Given the description of an element on the screen output the (x, y) to click on. 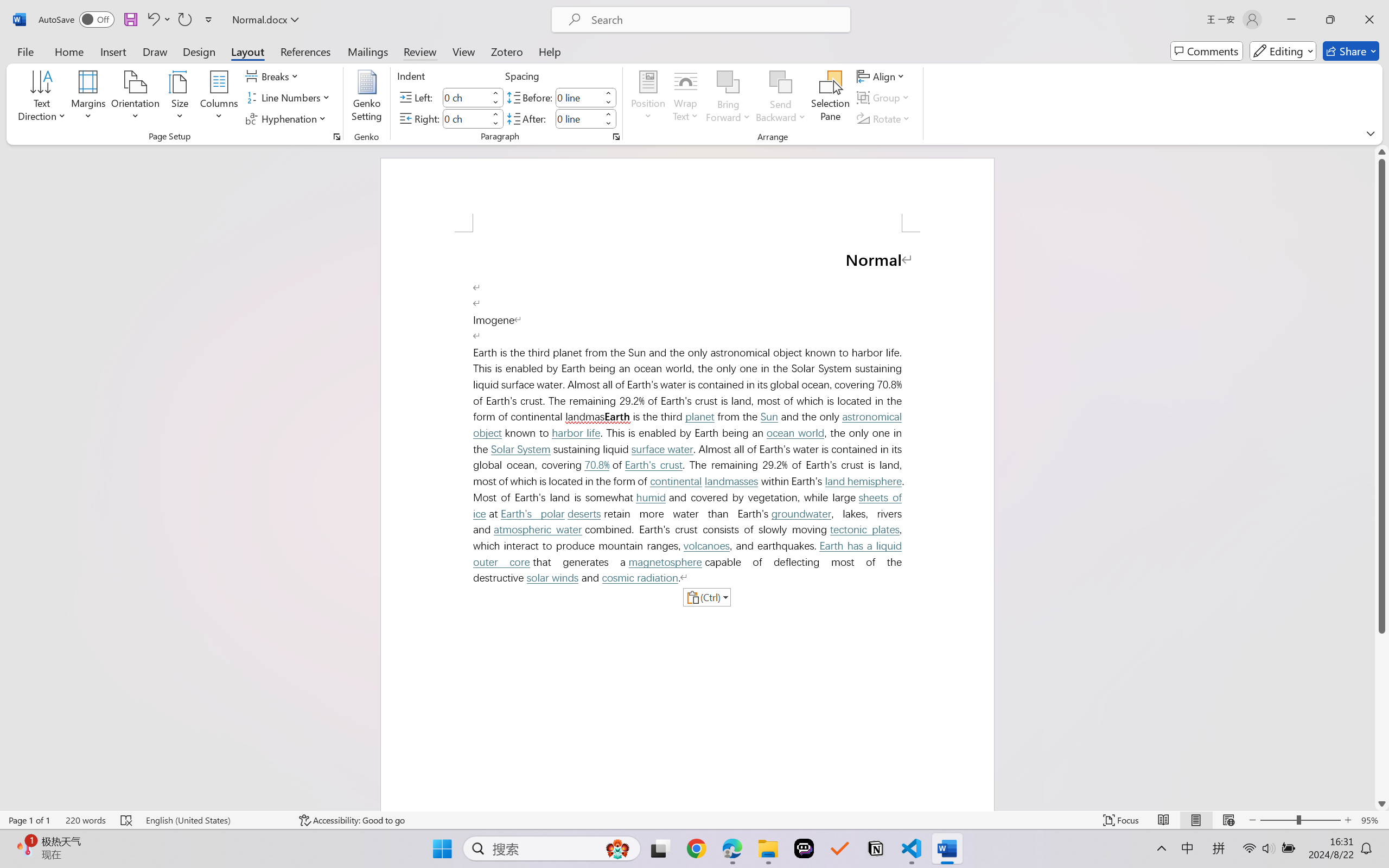
Wrap Text (685, 97)
Selection Pane... (830, 97)
Position (647, 97)
Spacing After (578, 118)
volcanoes (706, 546)
Line up (1382, 151)
Microsoft search (715, 19)
groundwater (800, 513)
astronomical object (690, 424)
Earth's crust (653, 465)
